Given the description of an element on the screen output the (x, y) to click on. 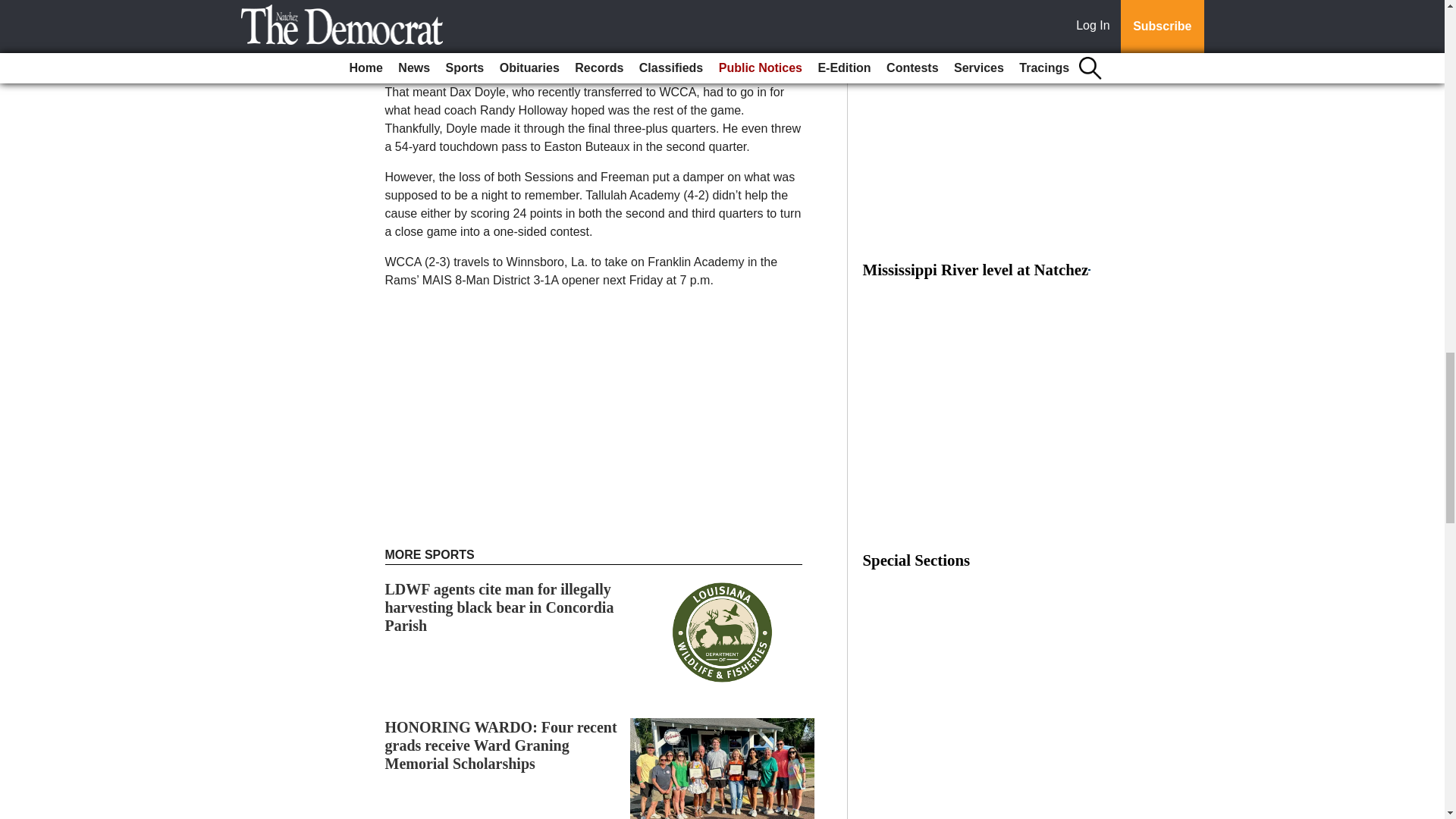
View Results Of This Poll (975, 3)
Subscribe (434, 42)
Subscribe (434, 42)
